Given the description of an element on the screen output the (x, y) to click on. 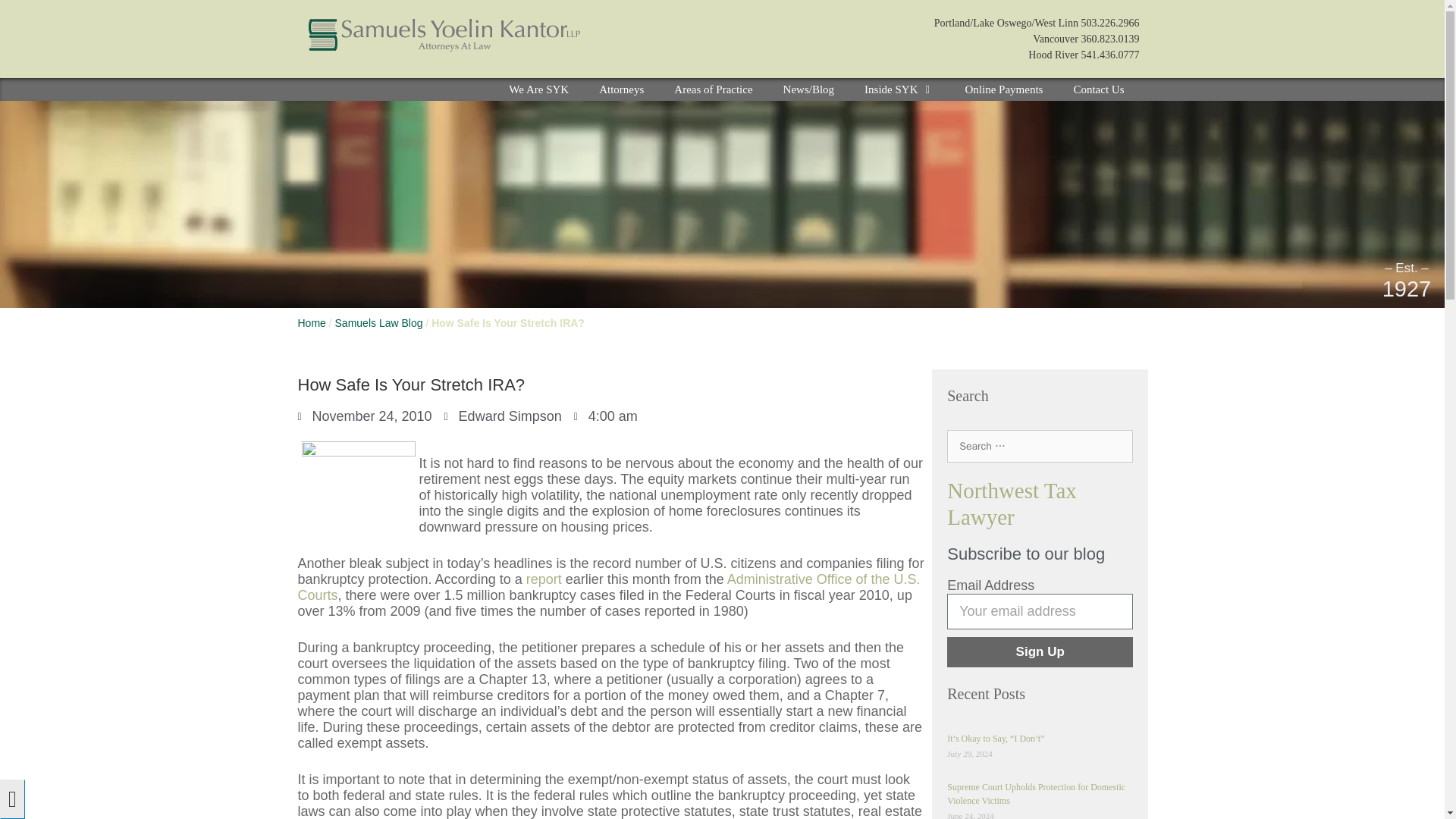
Contact Us (1098, 88)
We Are SYK (538, 88)
Edward Simpson (503, 416)
Areas of Practice (713, 88)
Home (310, 322)
Samuels Law Blog (378, 322)
Search for: (1039, 445)
Online Payments (1004, 88)
November 24, 2010 (363, 416)
Administrative Office of the U.S. Courts (608, 586)
